Given the description of an element on the screen output the (x, y) to click on. 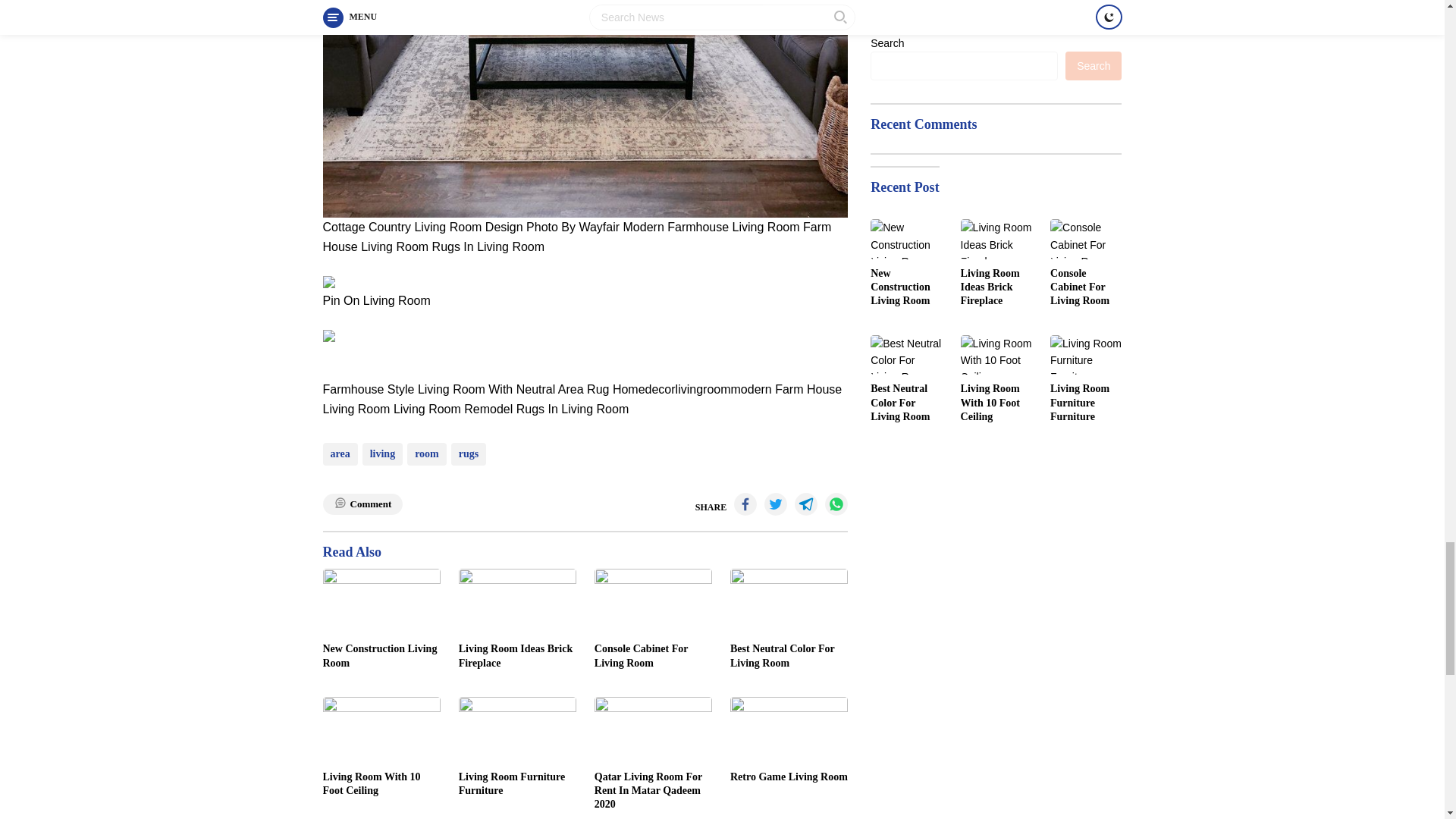
Telegram Share (805, 504)
Facebook Share (745, 504)
area (340, 454)
living (382, 454)
room (426, 454)
Comment (363, 504)
Send To WhatsApp (836, 504)
rugs (468, 454)
Tweet This (775, 504)
